Given the description of an element on the screen output the (x, y) to click on. 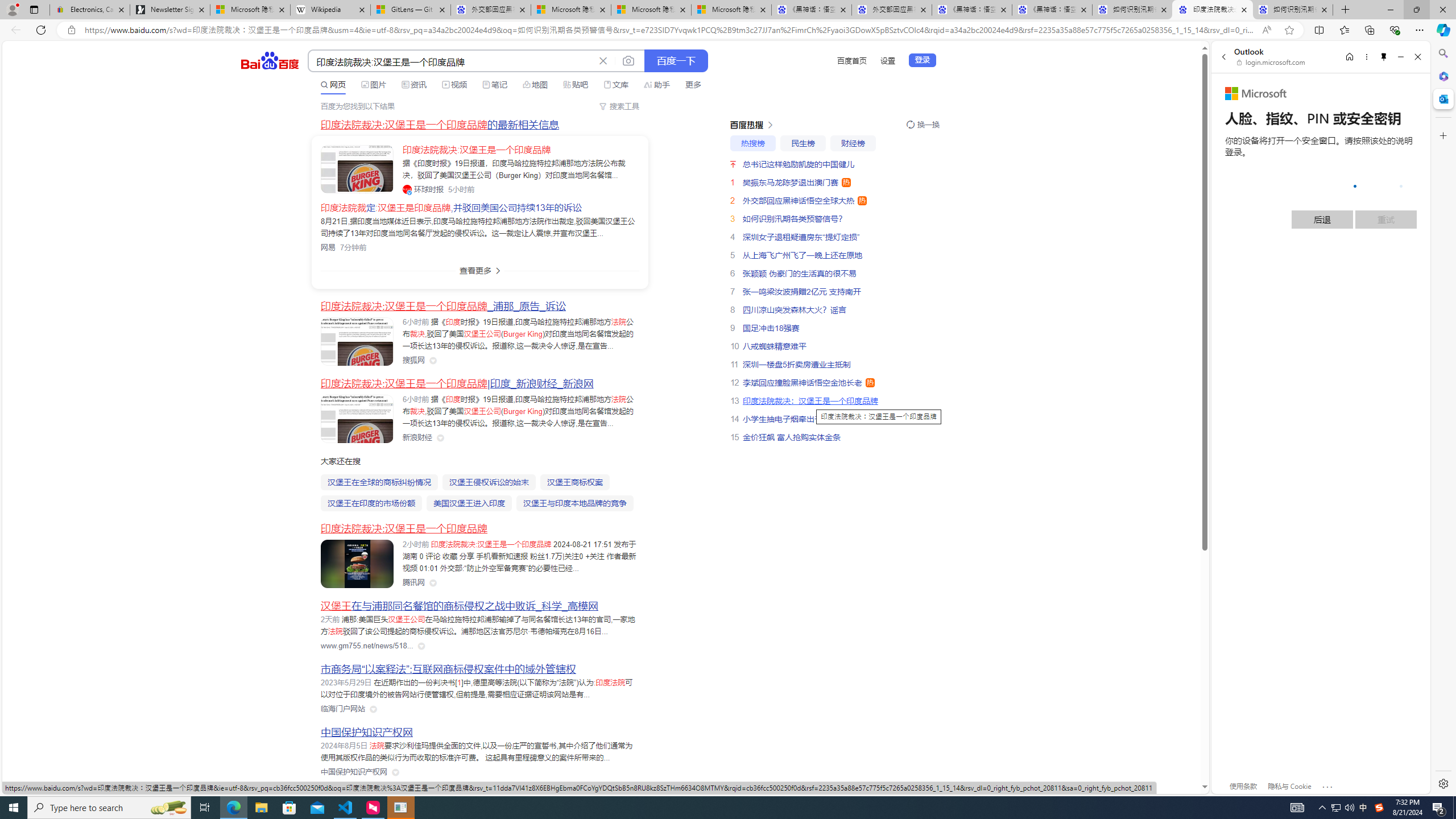
Wikipedia (330, 9)
